Given the description of an element on the screen output the (x, y) to click on. 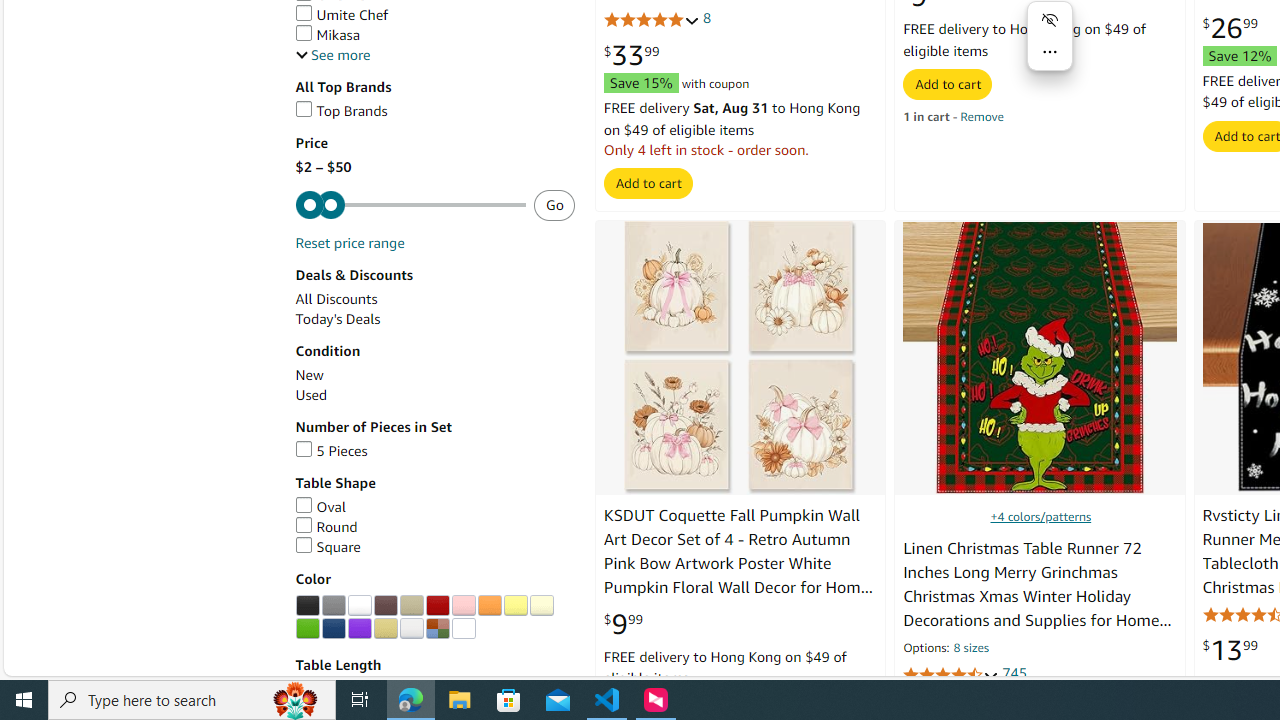
745 (1014, 673)
Orange (489, 605)
Blue (333, 628)
New (434, 375)
Square (327, 547)
Minimum (410, 205)
Gold (385, 628)
AutomationID: p_n_feature_twenty_browse-bin/3254111011 (385, 628)
AutomationID: p_n_feature_twenty_browse-bin/3254105011 (489, 605)
Square (434, 547)
Pink (463, 605)
Mikasa (434, 35)
Remove (981, 116)
Used (434, 395)
All Discounts (434, 299)
